Given the description of an element on the screen output the (x, y) to click on. 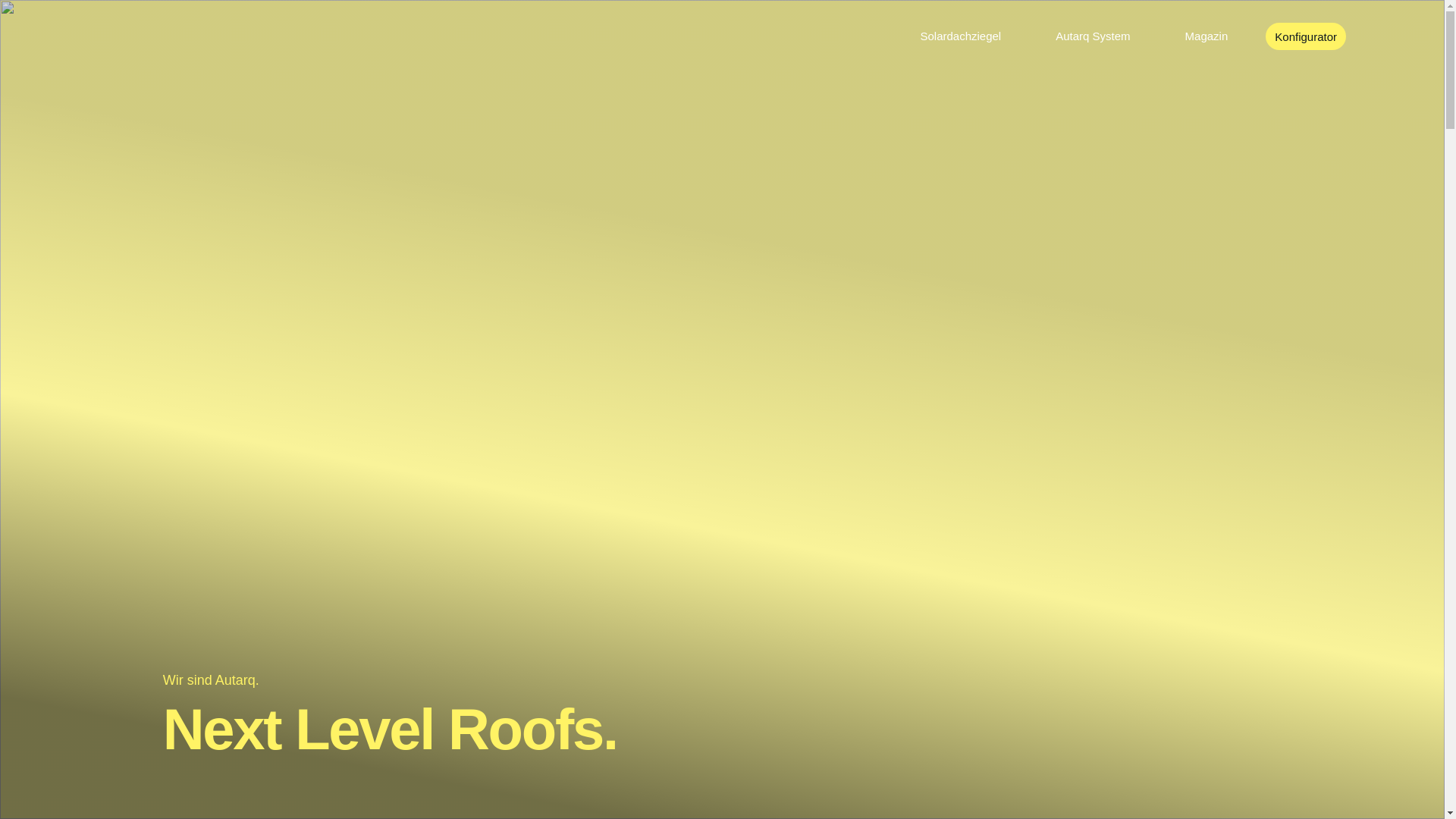
Autarq System Element type: text (1092, 36)
Solardachziegel Element type: text (960, 36)
Magazin Element type: text (1206, 36)
Konfigurator Element type: text (1305, 36)
